Given the description of an element on the screen output the (x, y) to click on. 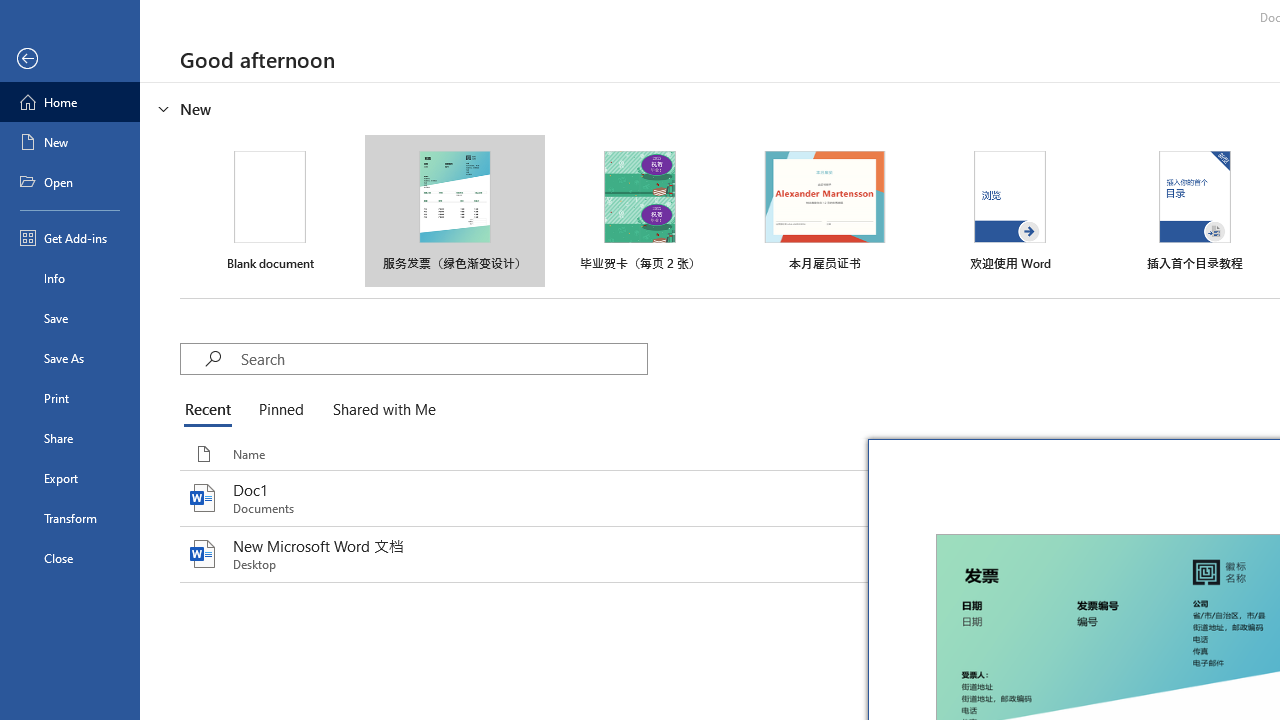
Pinned (280, 410)
Open (69, 182)
Info (69, 277)
Get Add-ins (69, 237)
Recent (212, 410)
Back (69, 59)
Save (69, 317)
Hide or show region (164, 108)
